Given the description of an element on the screen output the (x, y) to click on. 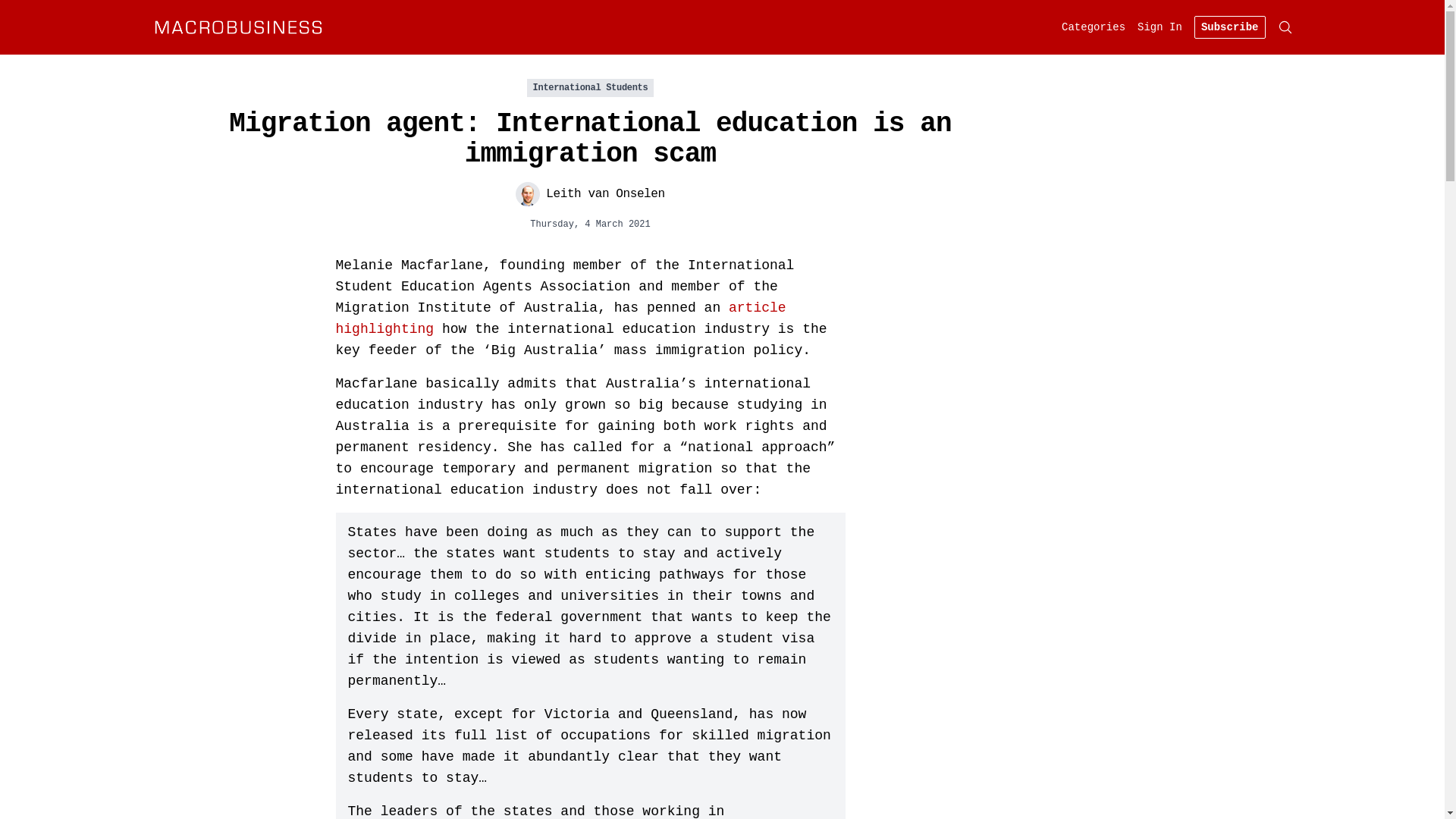
article highlighting Element type: text (560, 318)
Subscribe Element type: text (1229, 26)
International Students Element type: text (590, 87)
Sign In Element type: text (1159, 26)
Categories Element type: text (1093, 26)
Leith van Onselen Element type: text (589, 194)
